Given the description of an element on the screen output the (x, y) to click on. 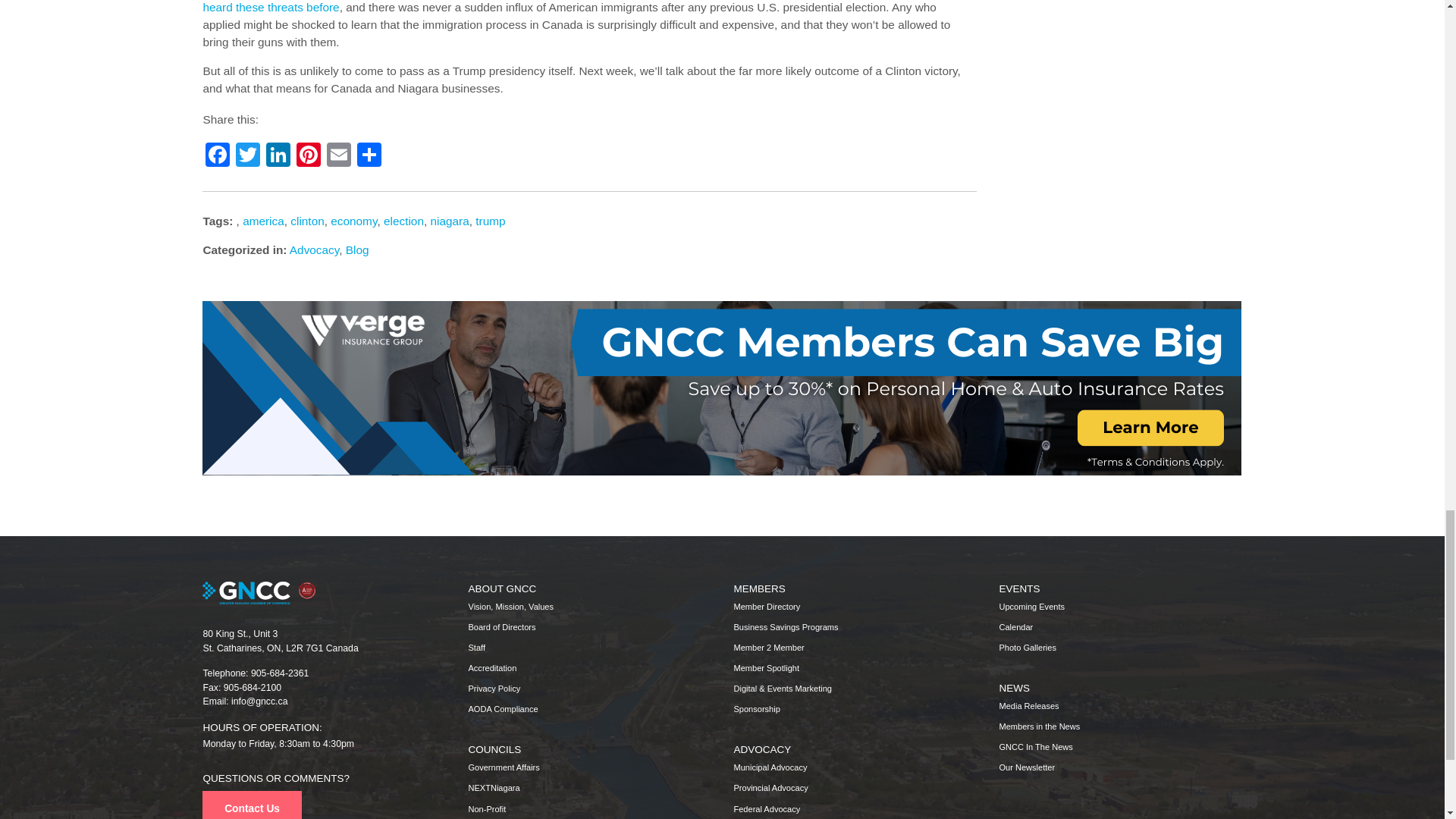
Email (338, 156)
LinkedIn (278, 156)
Facebook (217, 156)
Pinterest (308, 156)
Twitter (247, 156)
